Given the description of an element on the screen output the (x, y) to click on. 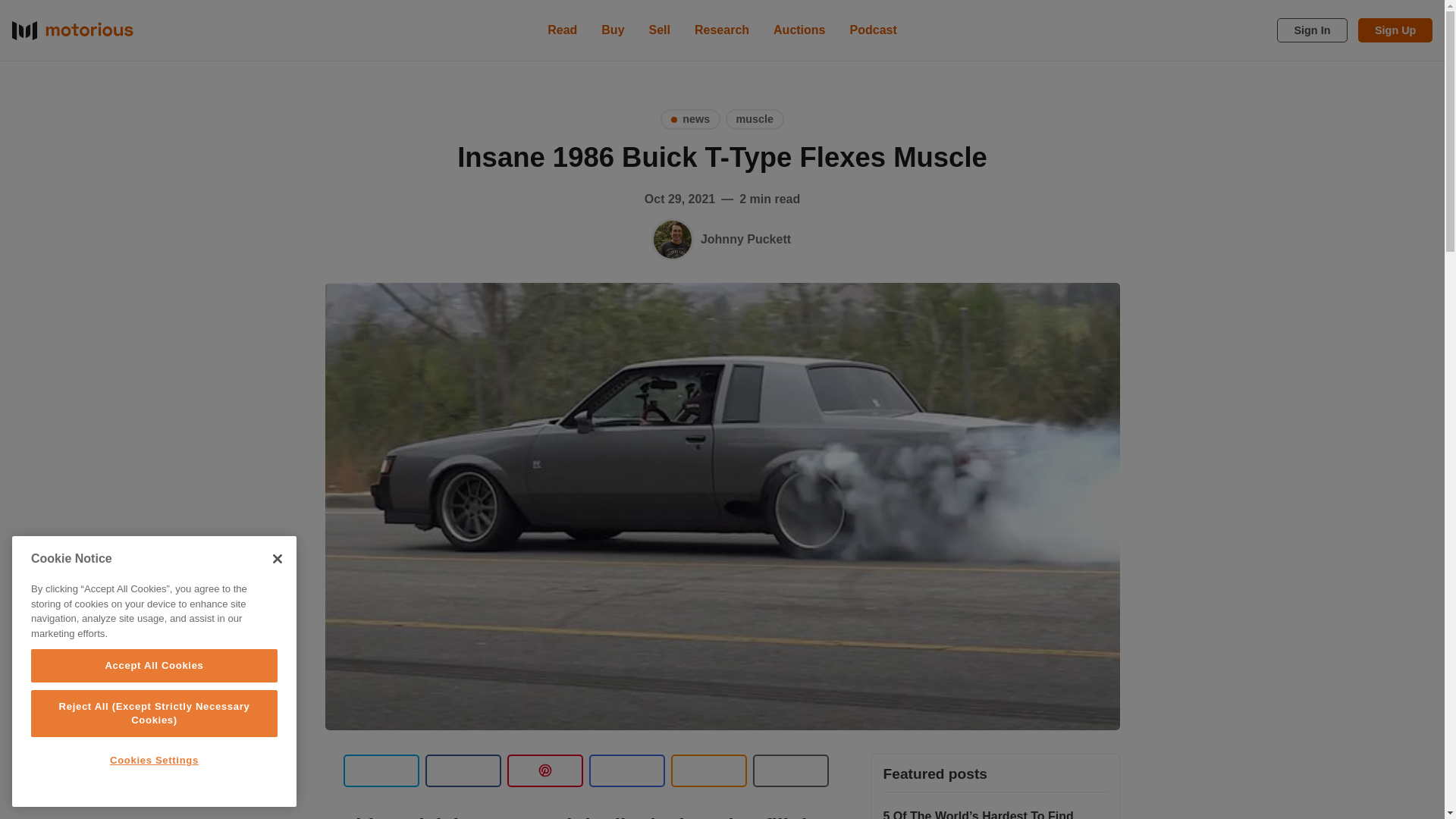
muscle (754, 118)
news (690, 118)
Bookmark (790, 770)
Sell (659, 29)
Research (721, 29)
Sign In (1312, 30)
Share on Twitter (380, 770)
news (690, 118)
Johnny Puckett (745, 238)
muscle (754, 118)
Share on Facebook (462, 770)
Buy (612, 29)
Sign Up (1395, 30)
Read (562, 29)
Share by email (625, 770)
